Given the description of an element on the screen output the (x, y) to click on. 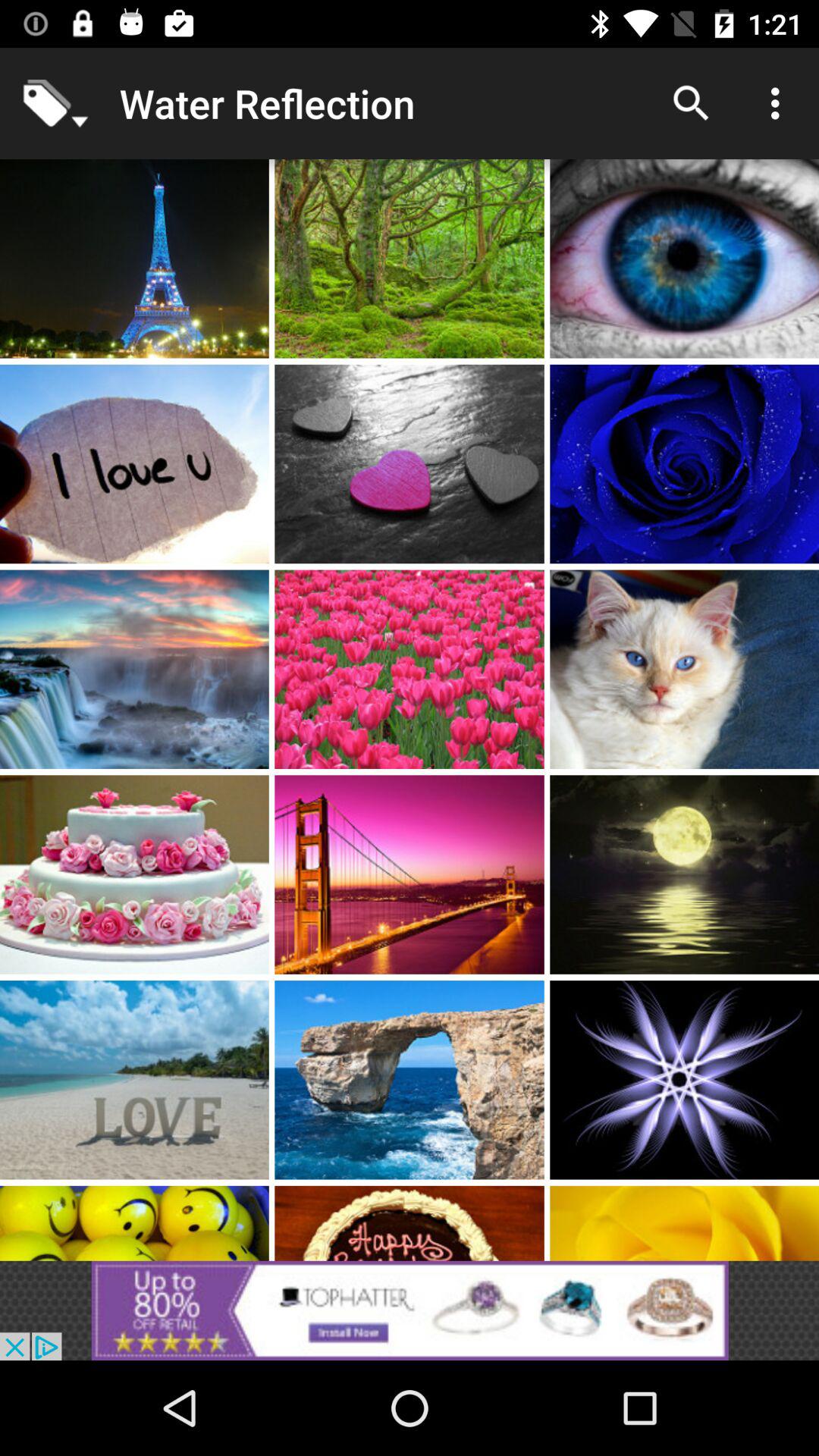
google advertisements (409, 1310)
